Given the description of an element on the screen output the (x, y) to click on. 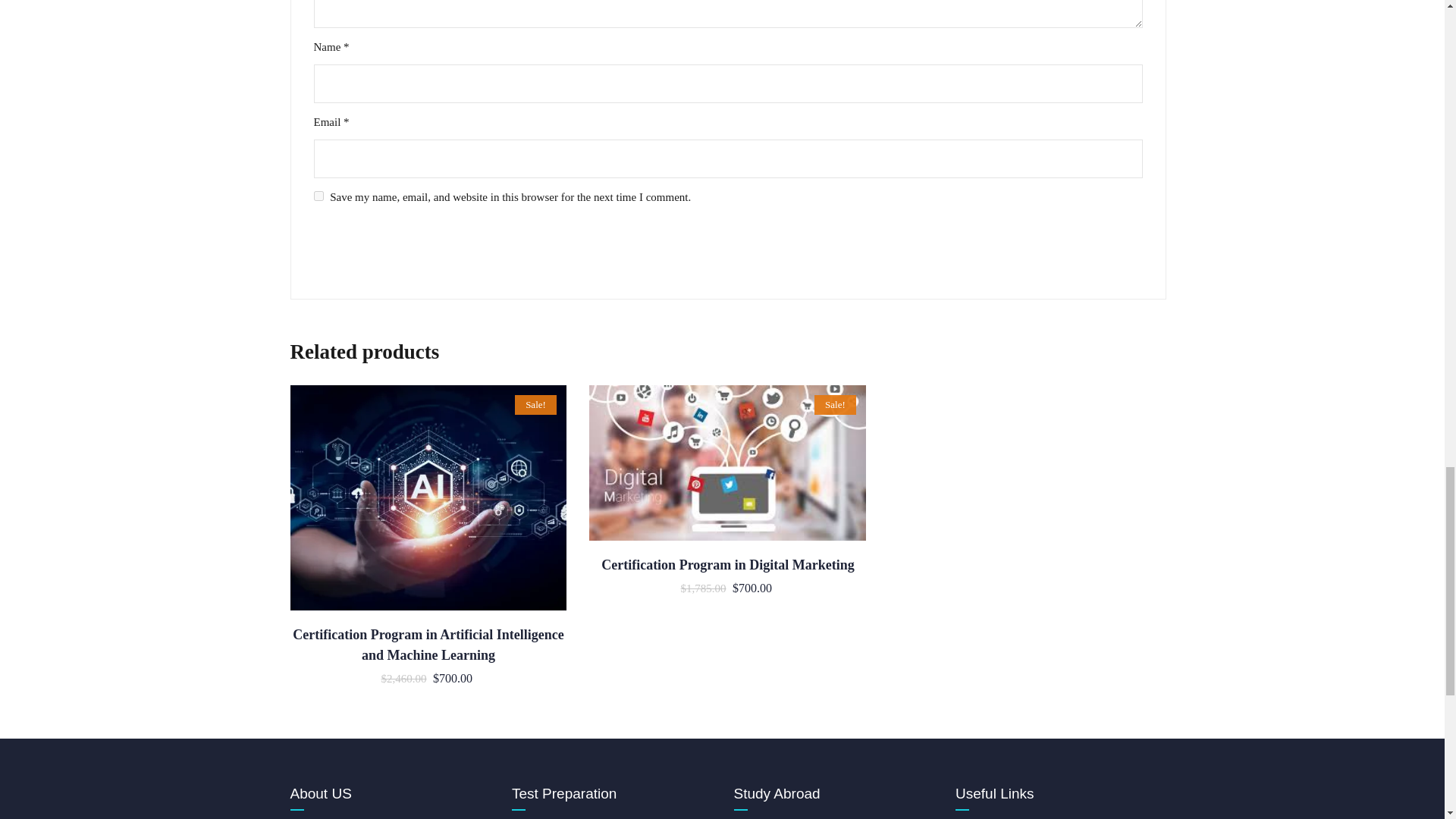
yes (318, 195)
Submit (360, 252)
Submit (360, 252)
